Given the description of an element on the screen output the (x, y) to click on. 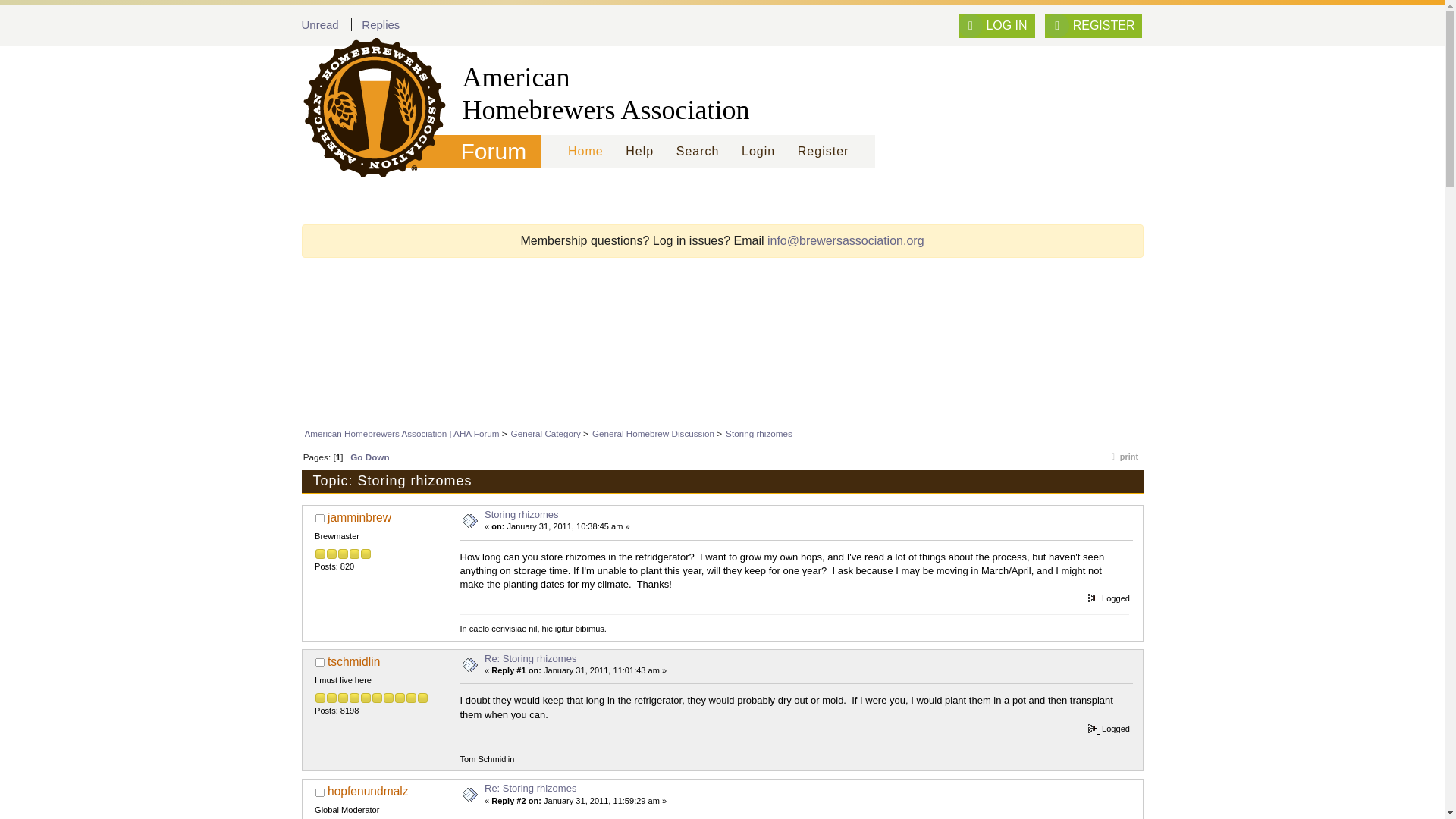
hopfenundmalz (368, 790)
Re: Storing rhizomes (530, 787)
Storing rhizomes (521, 514)
General Homebrew Discussion (653, 433)
Help (639, 151)
3rd party ad content (721, 379)
Go Down (369, 456)
Unread (320, 24)
Re: Storing rhizomes (530, 657)
Homebrewers Association (366, 93)
View the profile of tschmidlin (353, 661)
General Category (545, 433)
Register (823, 151)
Home (584, 151)
Search (697, 151)
